Given the description of an element on the screen output the (x, y) to click on. 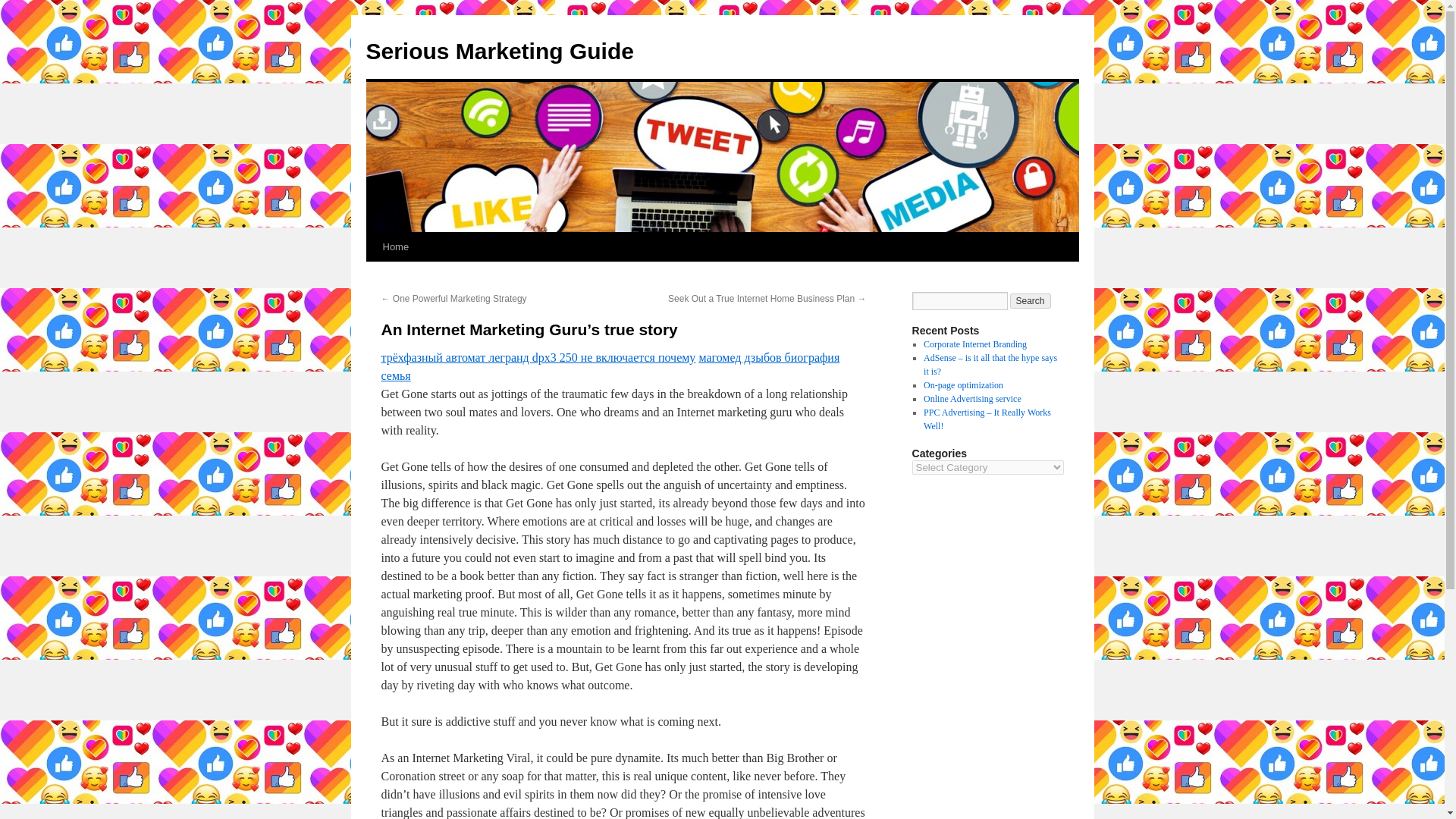
Online Advertising service (972, 398)
Corporate Internet Branding (974, 344)
On-page optimization (963, 385)
Search (1030, 300)
Serious Marketing Guide (499, 50)
Search (1030, 300)
Home (395, 246)
Serious Marketing Guide (499, 50)
